Given the description of an element on the screen output the (x, y) to click on. 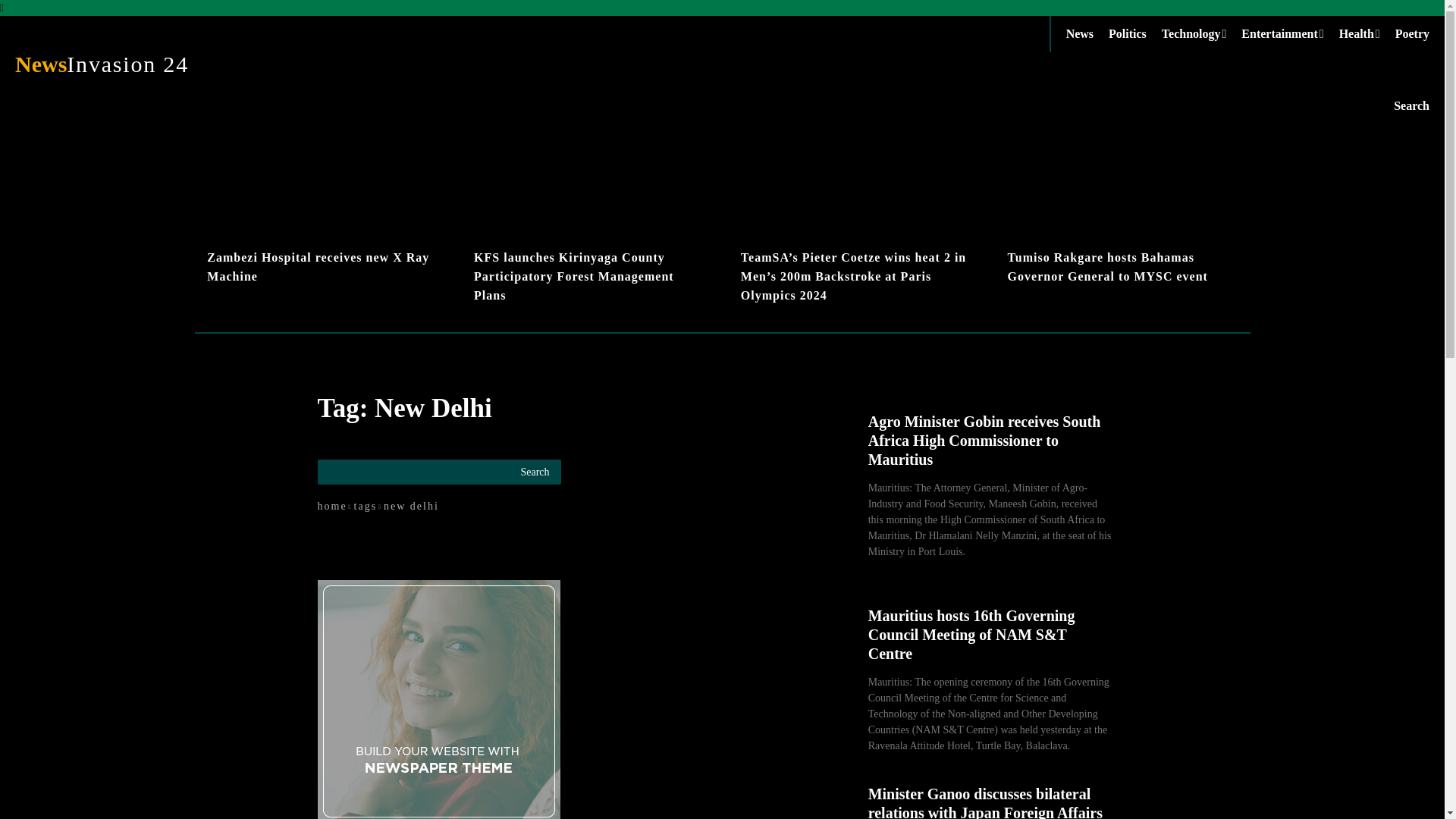
Zambezi Hospital receives new X Ray Machine (321, 212)
Health (1366, 33)
Zambezi Hospital receives new X Ray Machine (317, 266)
Search (1411, 105)
Technology (1201, 33)
Entertainment (173, 63)
News (1289, 33)
